Given the description of an element on the screen output the (x, y) to click on. 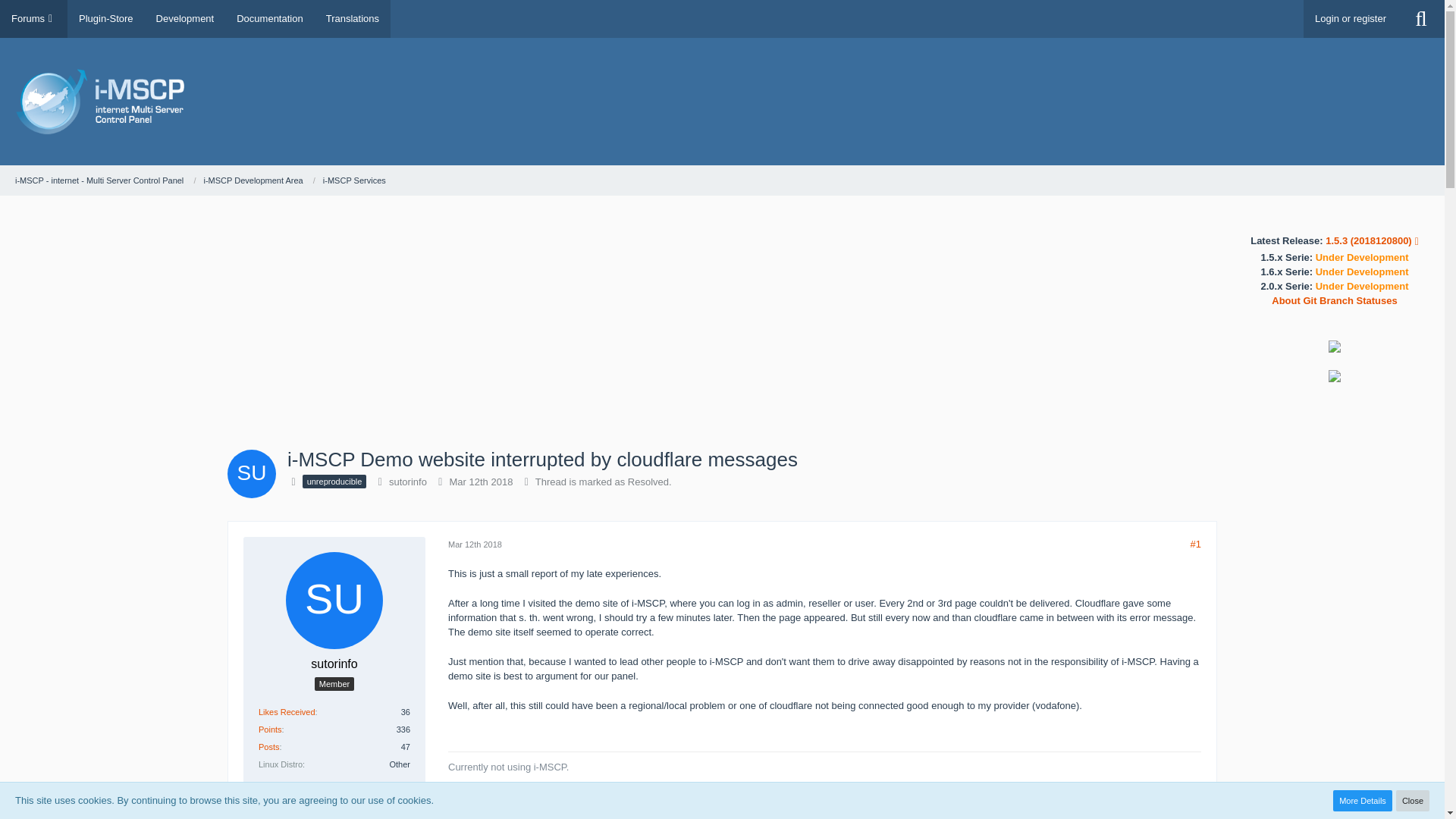
Translations (352, 18)
Mar 12th 2018 (481, 481)
Documentation (269, 18)
Points (270, 728)
Login or register (1350, 18)
i-MSCP Services (354, 180)
i-MSCP Development Area (252, 180)
i-MSCP - internet - Multi Server Control Panel (104, 180)
Forums (33, 18)
i-MSCP - internet - Multi Server Control Panel (98, 180)
